Given the description of an element on the screen output the (x, y) to click on. 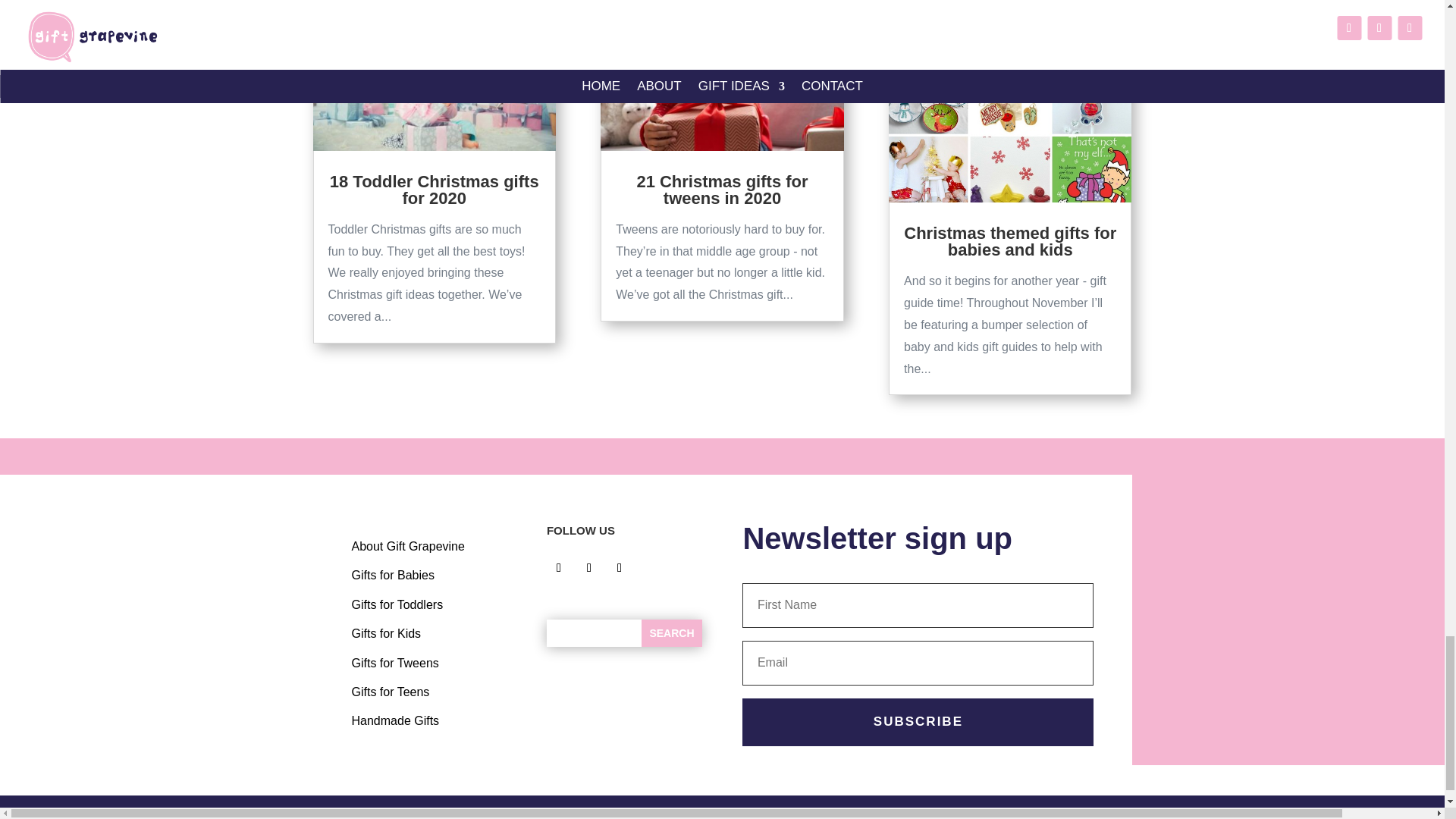
Search (671, 633)
Search (671, 633)
